Given the description of an element on the screen output the (x, y) to click on. 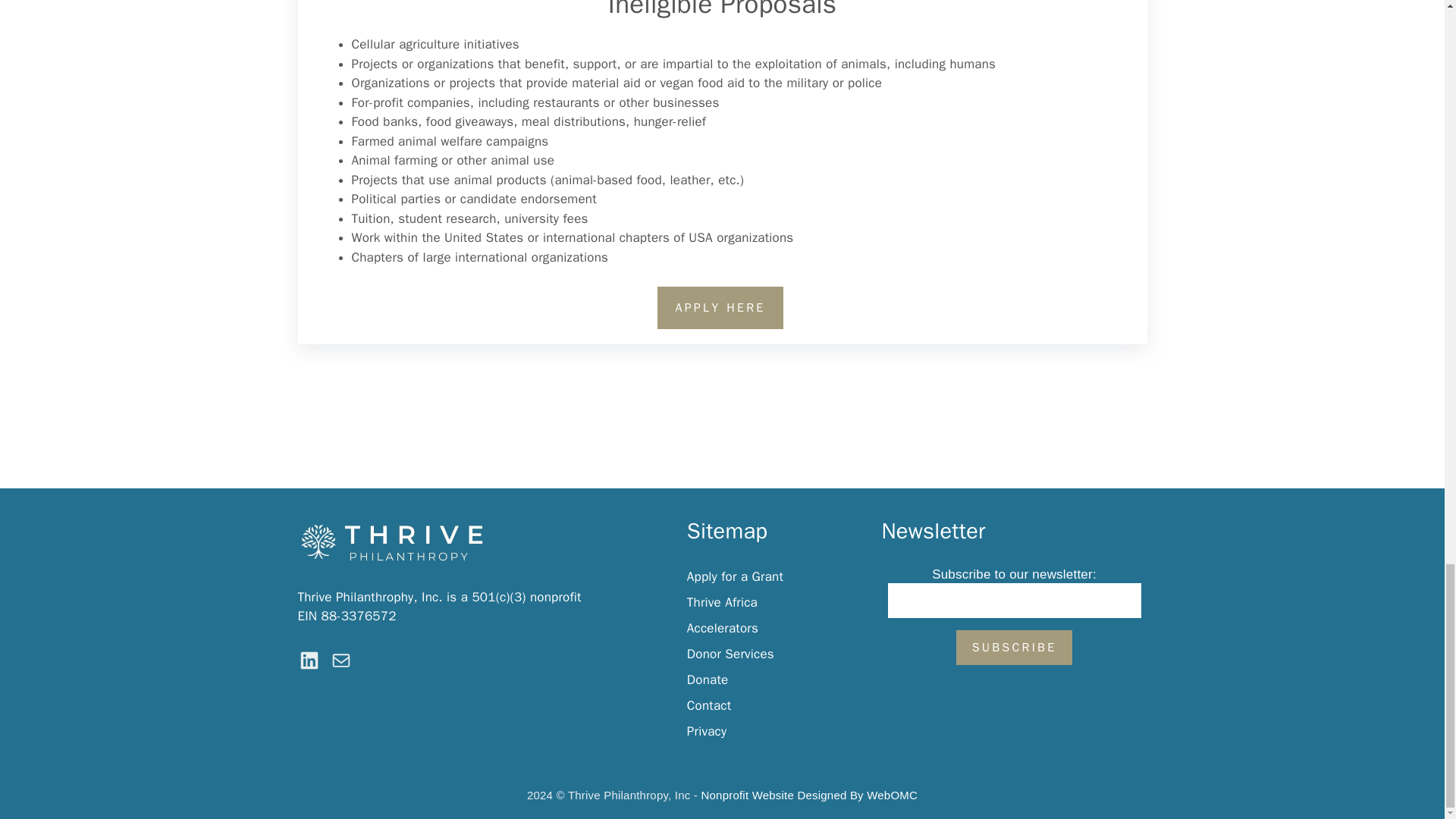
Subscribe (1014, 647)
